Given the description of an element on the screen output the (x, y) to click on. 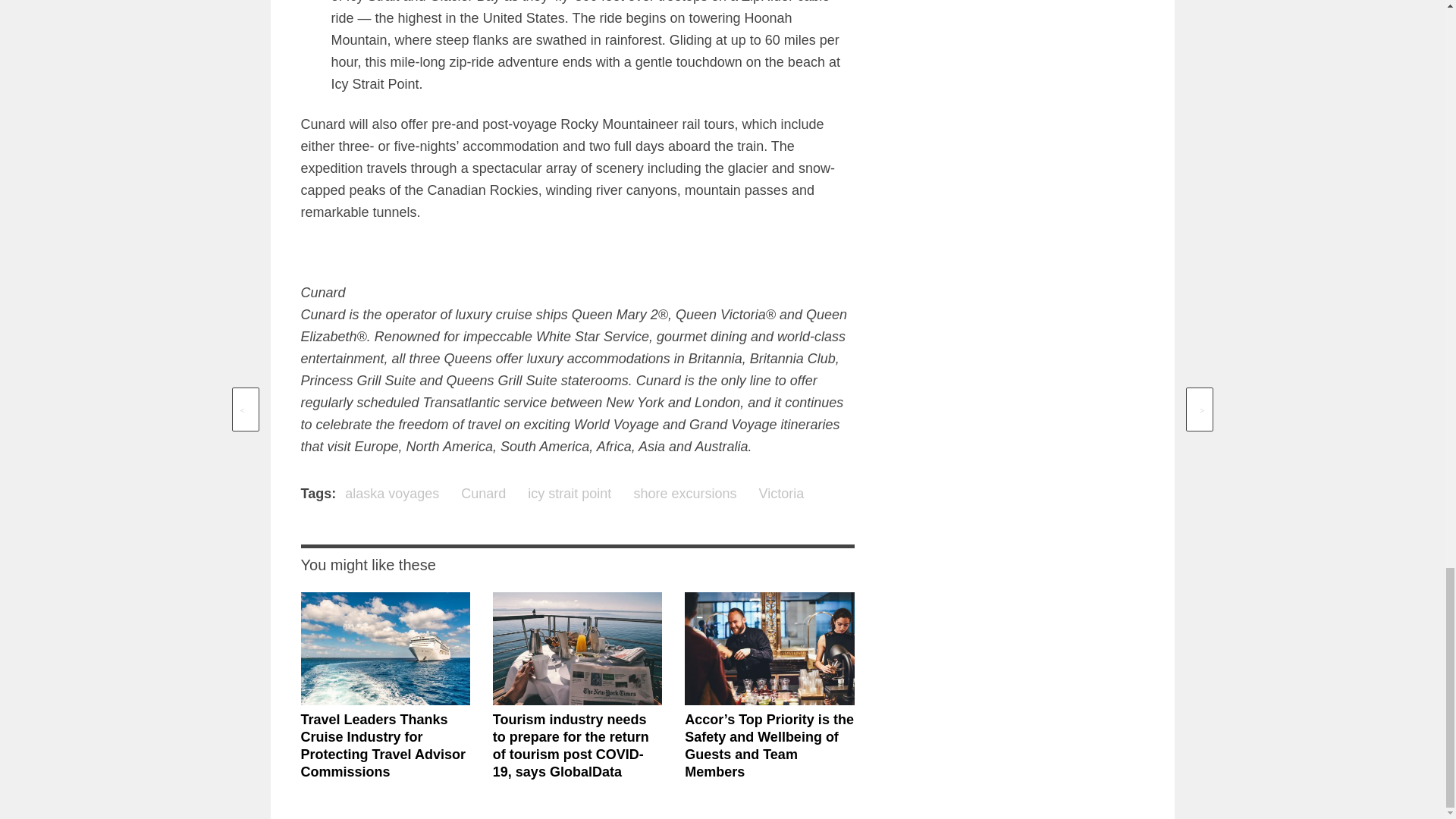
alaska voyages (392, 494)
icy strait point (569, 494)
Cunard (483, 494)
shore excursions (684, 494)
Victoria (780, 494)
